Given the description of an element on the screen output the (x, y) to click on. 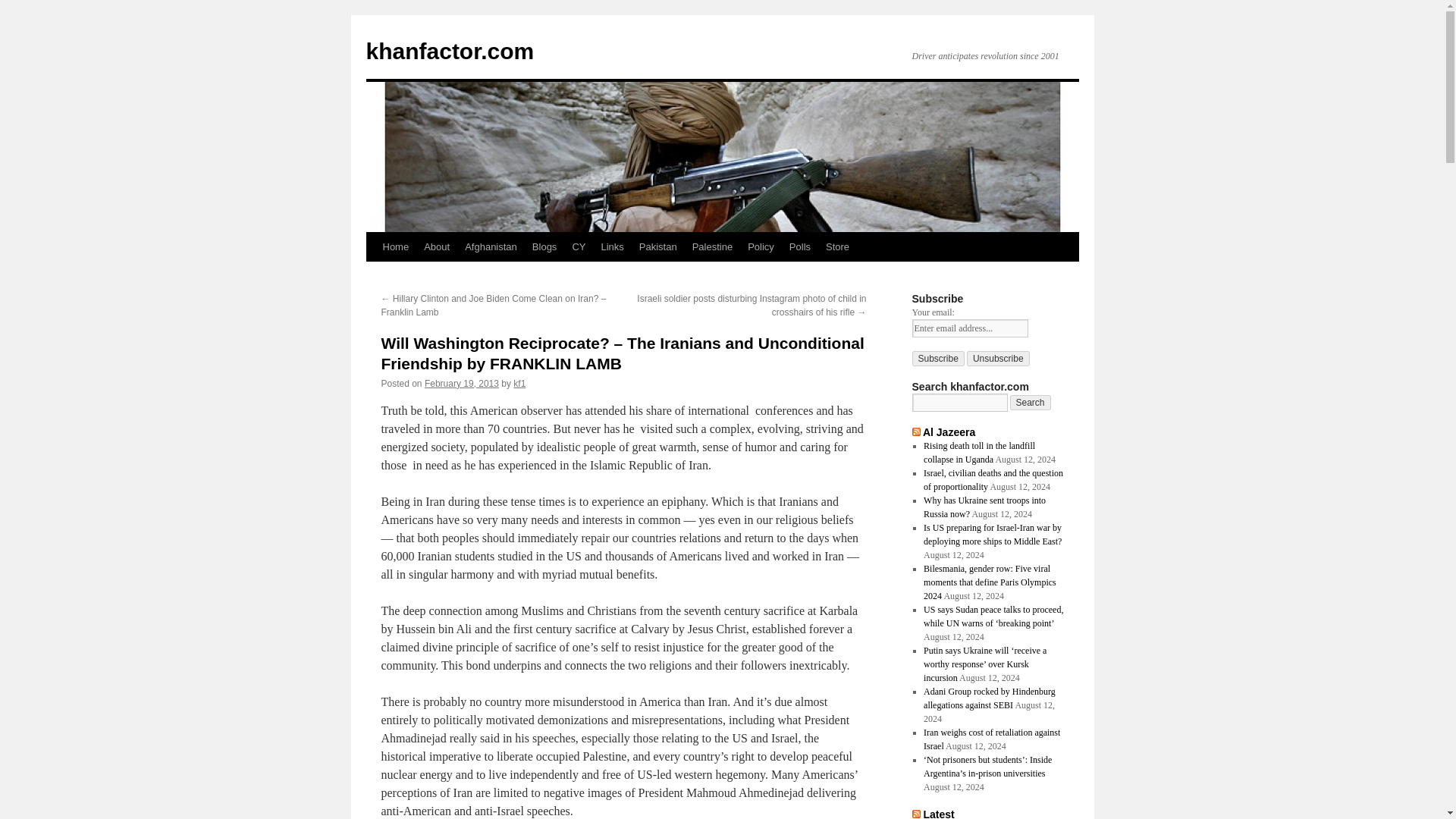
Subscribe (937, 358)
February 19, 2013 (462, 383)
Links (611, 246)
11:11 am (462, 383)
Home (395, 246)
Palestine (711, 246)
kf1 (519, 383)
Policy (760, 246)
About (436, 246)
Pakistan (657, 246)
